Given the description of an element on the screen output the (x, y) to click on. 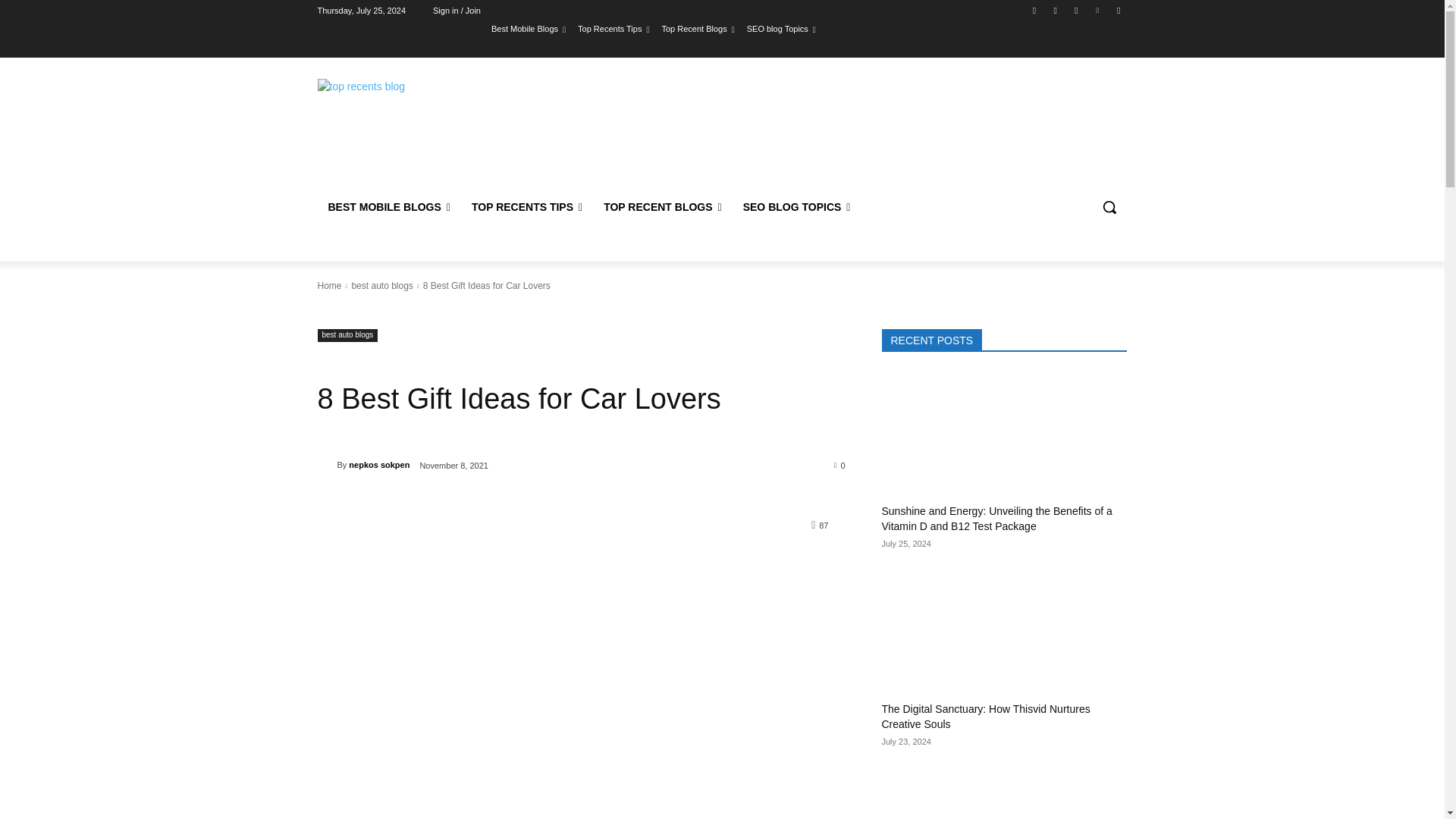
Facebook (1034, 9)
Top Recents  (425, 111)
Instagram (1055, 9)
View all posts in best auto blogs (381, 285)
nepkos sokpen (326, 464)
Top Recents  (394, 111)
Twitter (1075, 9)
Youtube (1117, 9)
Vimeo (1097, 9)
